Given the description of an element on the screen output the (x, y) to click on. 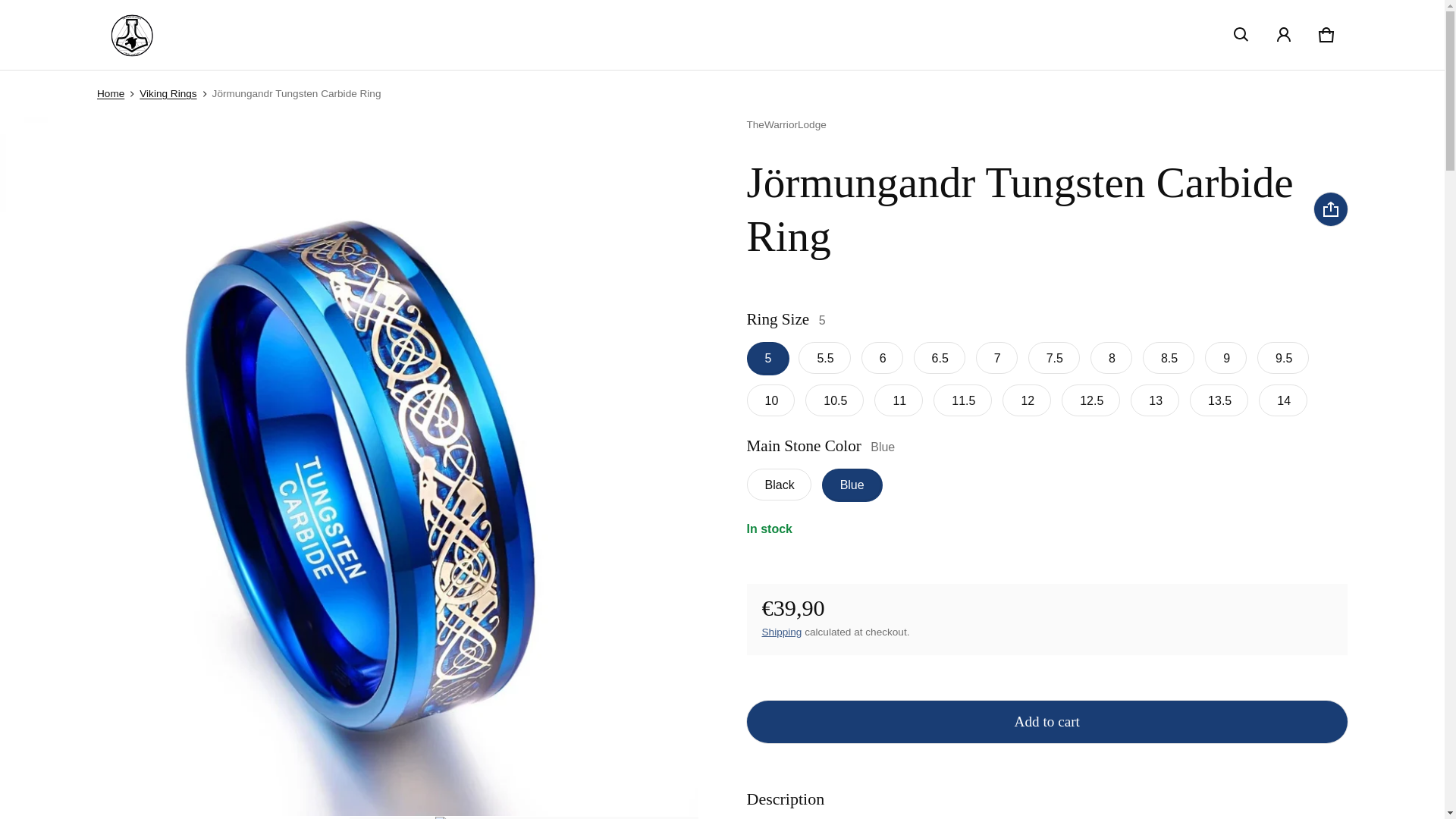
Viking Rings (167, 93)
